Given the description of an element on the screen output the (x, y) to click on. 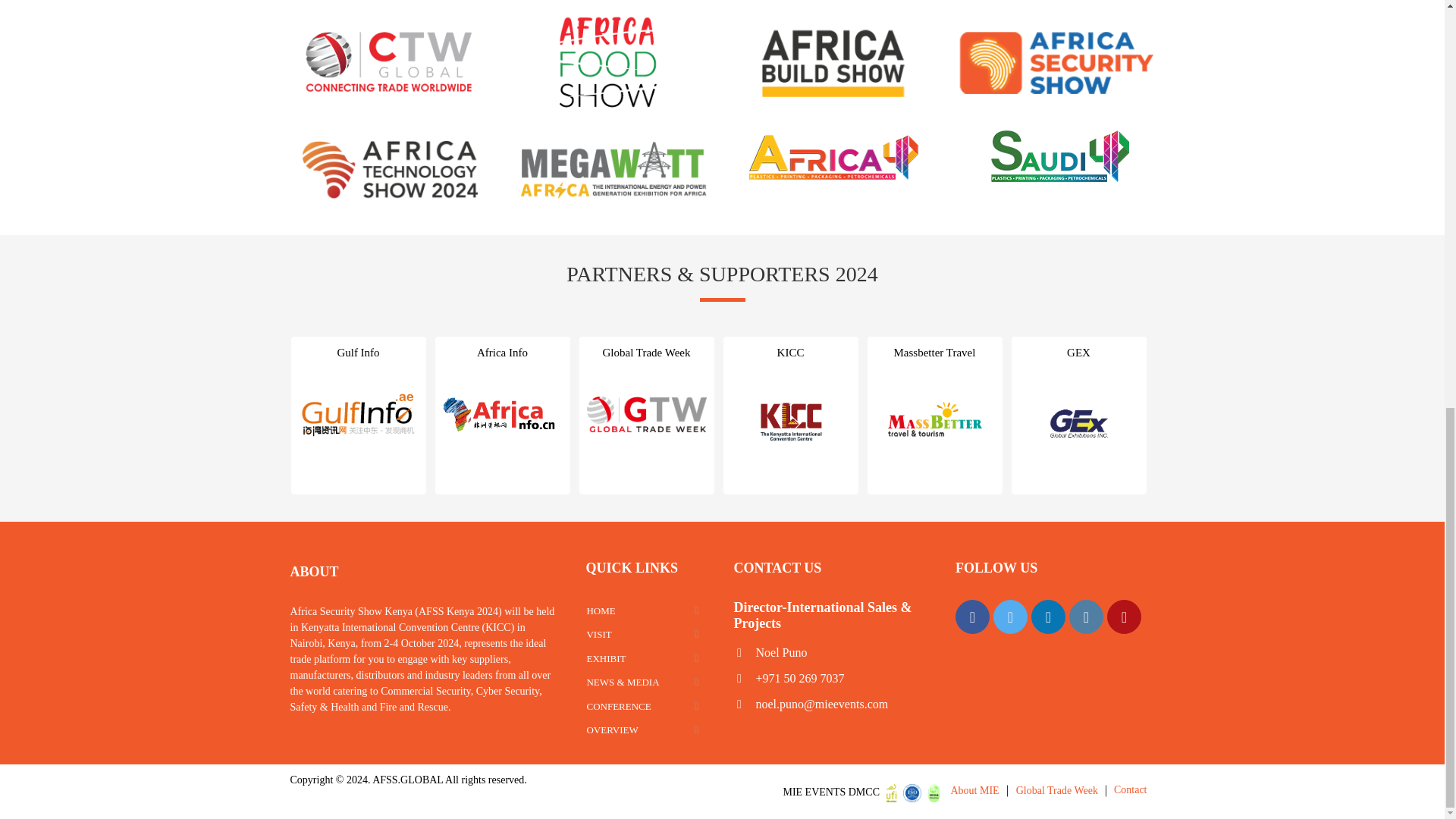
VISIT (647, 634)
Contact (1130, 789)
Global Trade Week (1056, 790)
CONFERENCE (647, 706)
About MIE (974, 790)
HOME (647, 610)
OVERVIEW (647, 730)
EXHIBIT (647, 658)
